Given the description of an element on the screen output the (x, y) to click on. 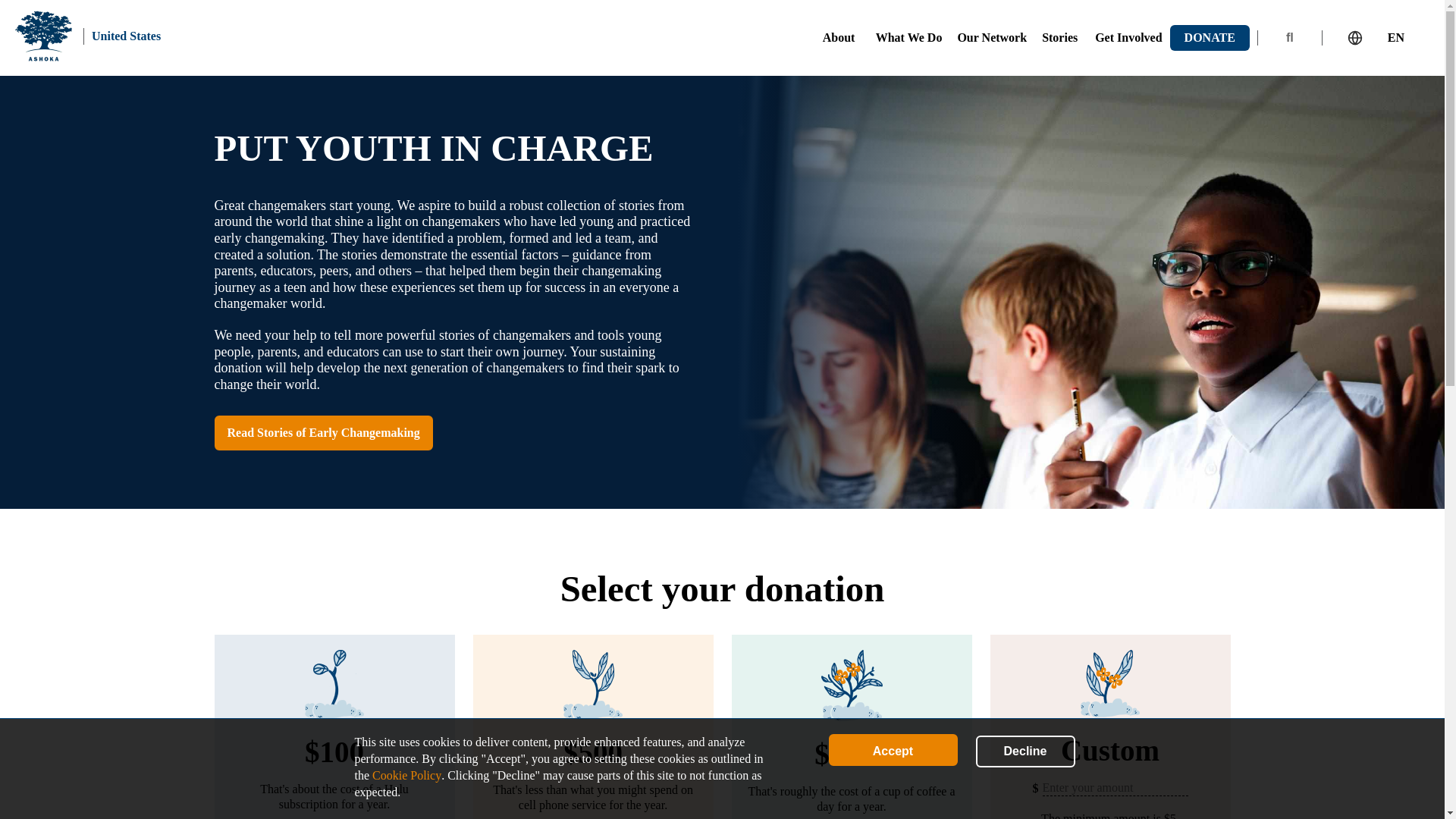
Read Stories of Early Changemaking (323, 432)
Ashoka (42, 35)
DONATE (1209, 37)
Home (125, 35)
Home (42, 35)
Accept (892, 749)
Cookie Policy (406, 775)
Decline (1024, 751)
Get Involved (1127, 37)
